Given the description of an element on the screen output the (x, y) to click on. 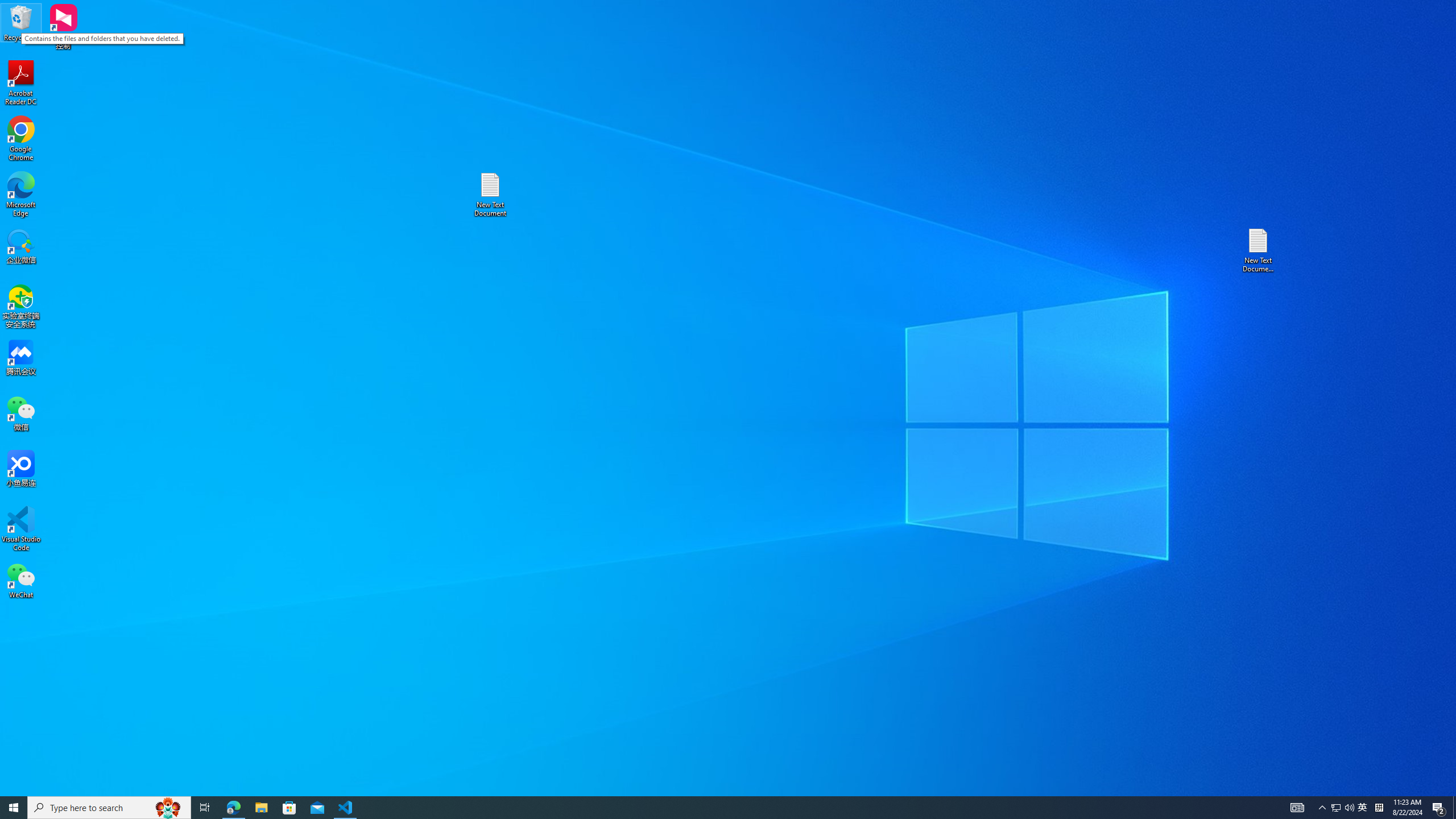
File Explorer (261, 807)
Visual Studio Code (21, 528)
AutomationID: 4105 (1297, 807)
Task View (204, 807)
Tray Input Indicator - Chinese (Simplified, China) (1378, 807)
Notification Chevron (1362, 807)
Microsoft Edge - 1 running window (1322, 807)
Q2790: 100% (1335, 807)
Google Chrome (233, 807)
Microsoft Store (1349, 807)
